Given the description of an element on the screen output the (x, y) to click on. 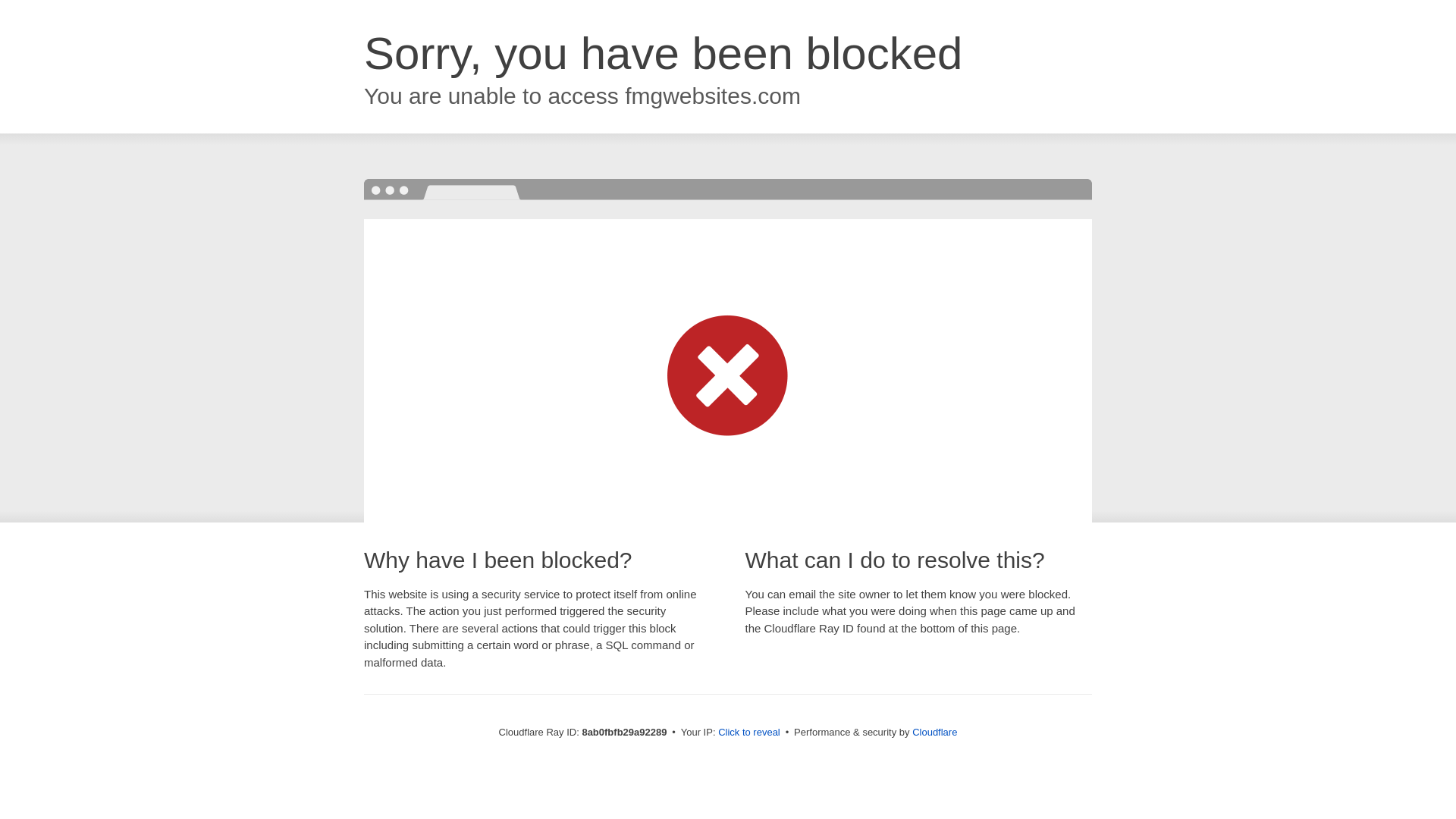
Click to reveal (748, 732)
Cloudflare (934, 731)
